Given the description of an element on the screen output the (x, y) to click on. 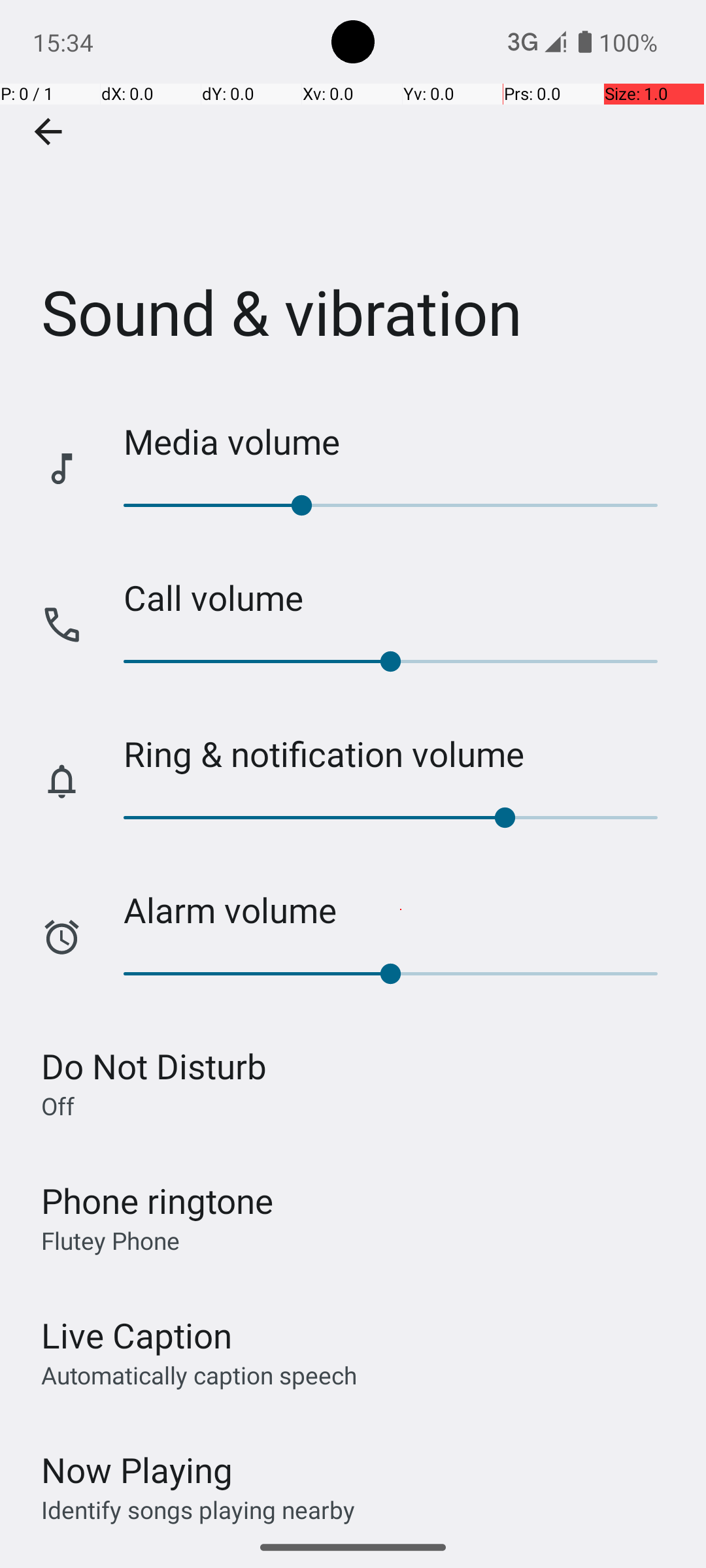
Now Playing Element type: android.widget.TextView (136, 1469)
Identify songs playing nearby Element type: android.widget.TextView (197, 1509)
